Given the description of an element on the screen output the (x, y) to click on. 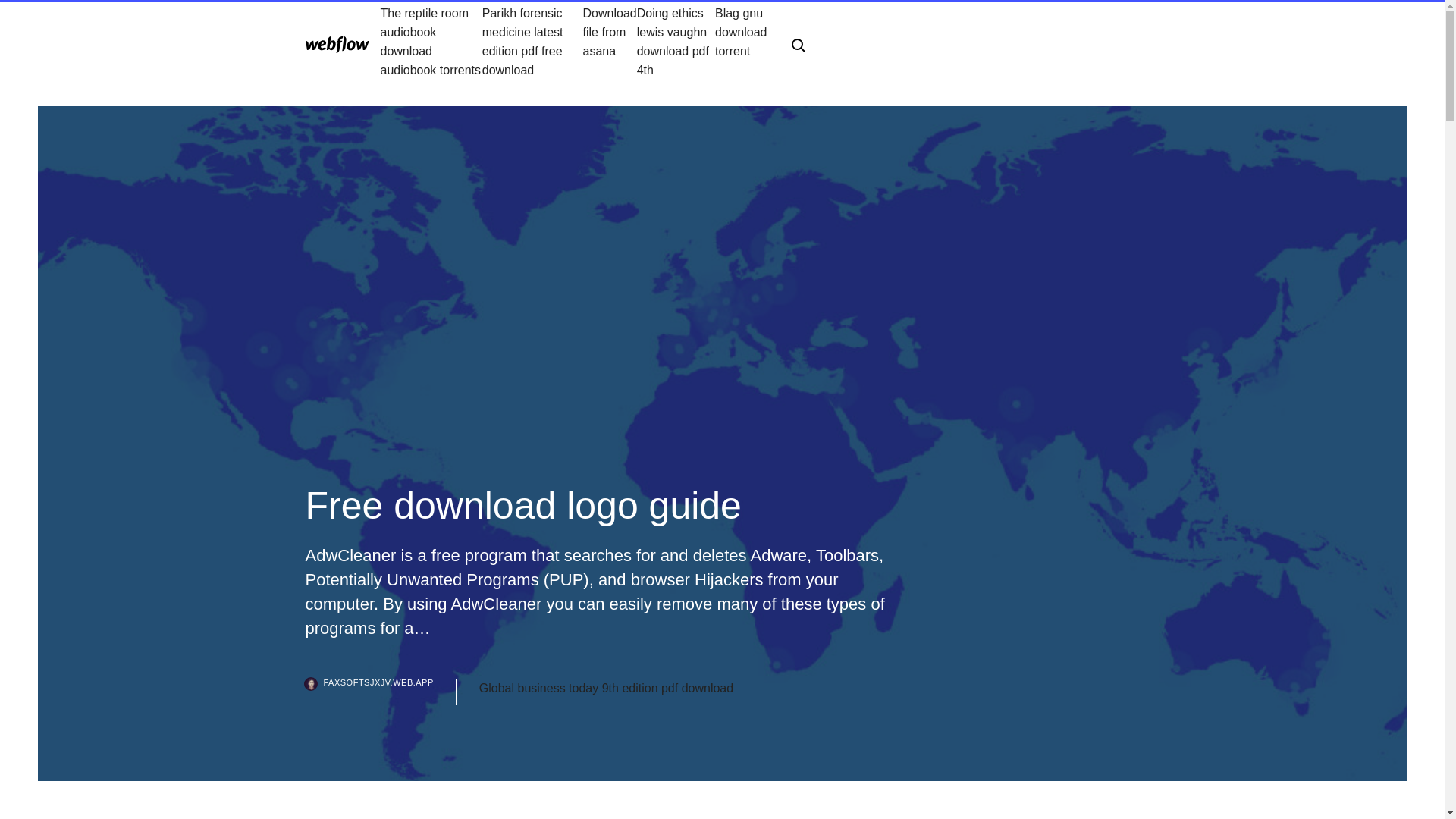
FAXSOFTSJXJV.WEB.APP (379, 691)
The reptile room audiobook download audiobook torrents (430, 41)
Doing ethics lewis vaughn download pdf 4th (675, 41)
Global business today 9th edition pdf download (606, 687)
Parikh forensic medicine latest edition pdf free download (532, 41)
